Given the description of an element on the screen output the (x, y) to click on. 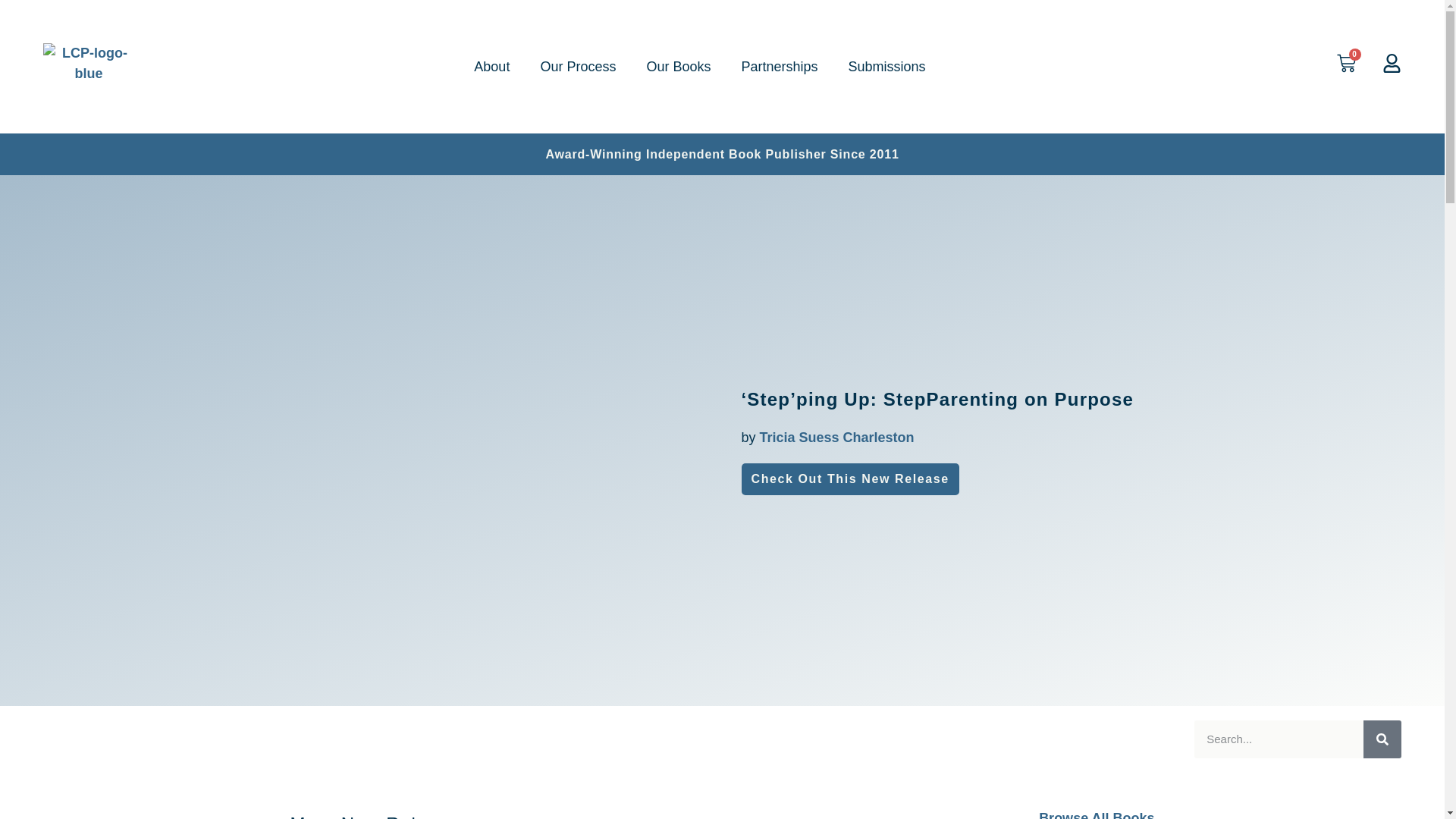
Tricia Suess Charleston (837, 437)
Our Books (677, 66)
Browse All Books (1096, 814)
About (491, 66)
Submissions (886, 66)
Partnerships (778, 66)
Our Process (577, 66)
Check Out This New Release (850, 479)
LCP-logo-blue (88, 66)
